Given the description of an element on the screen output the (x, y) to click on. 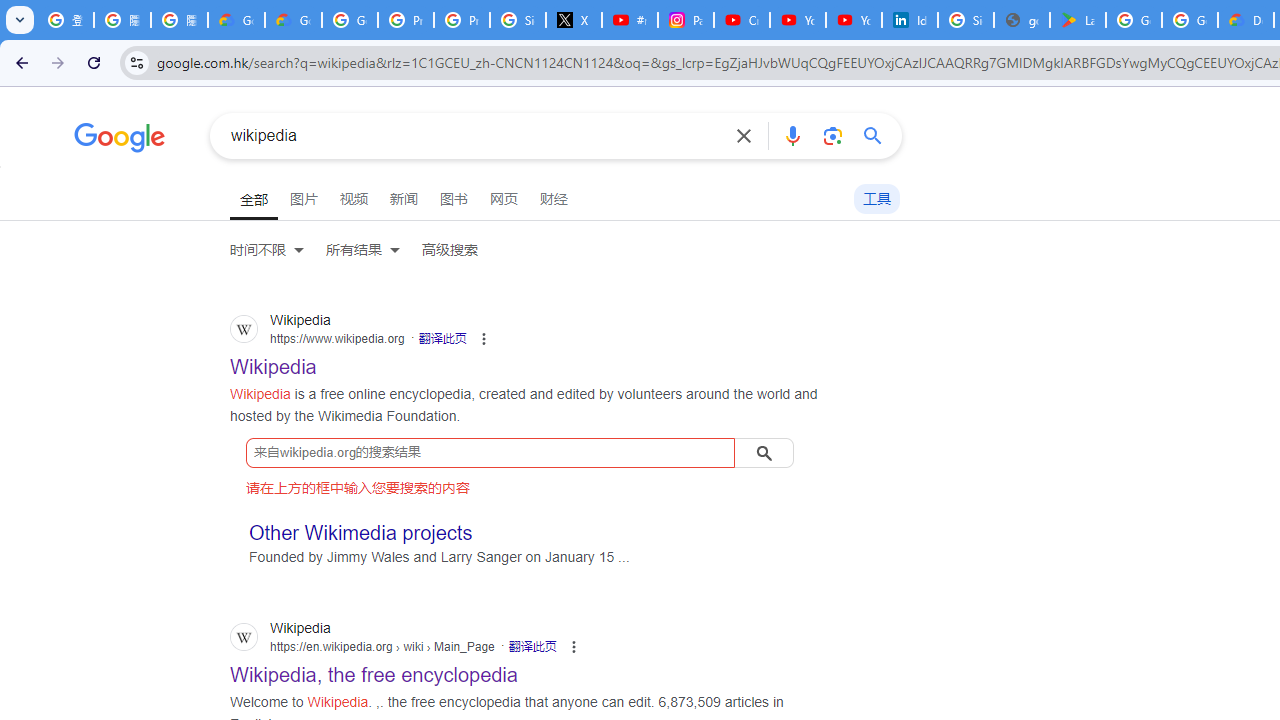
Google Workspace - Specific Terms (1190, 20)
Privacy Help Center - Policies Help (461, 20)
Google Cloud Privacy Notice (293, 20)
Last Shelter: Survival - Apps on Google Play (1077, 20)
